Given the description of an element on the screen output the (x, y) to click on. 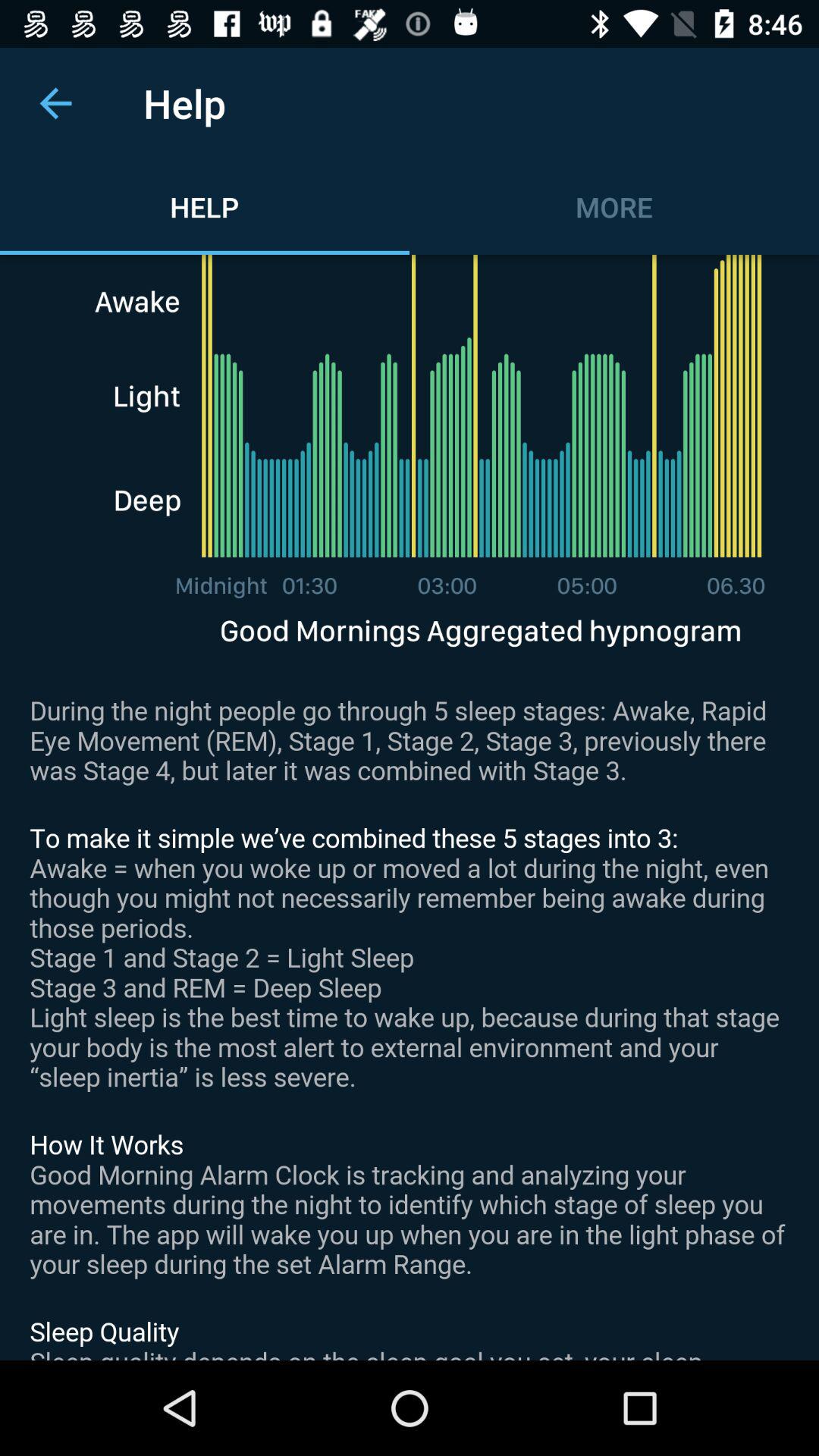
graph with data (409, 807)
